Given the description of an element on the screen output the (x, y) to click on. 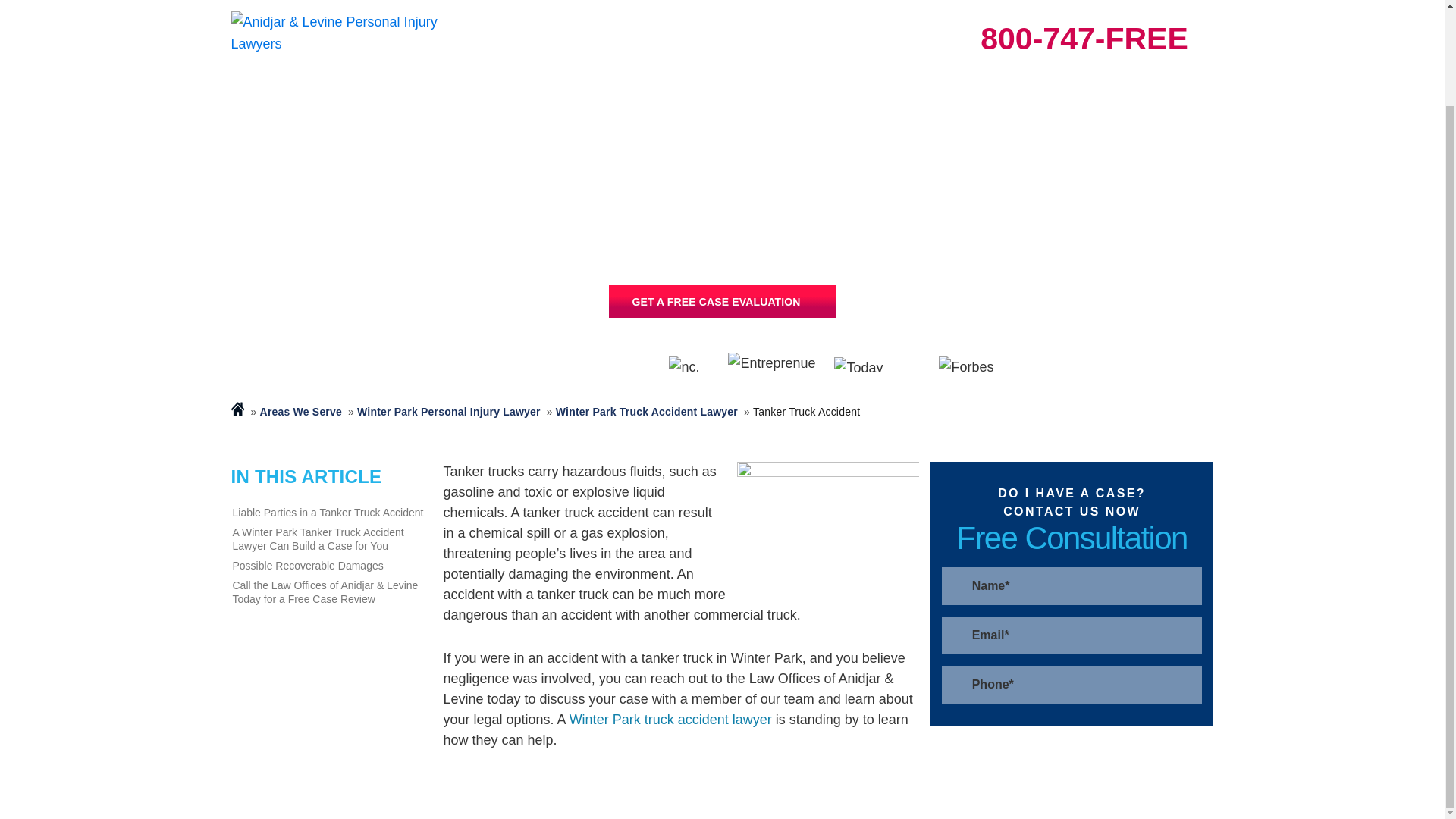
Possible Recoverable Damages (328, 565)
Areas We Serve (301, 411)
AREAS WE SERVE (606, 0)
Entreprenuer (773, 363)
GET A FREE CASE EVALUATION (721, 301)
Liable Parties in a Tanker Truck Accident (328, 512)
ABOUT (995, 0)
Forbes (971, 364)
CONTACT (1175, 0)
Inc. (690, 363)
SPEAK TO AN ATTORNEY NOW  (721, 301)
REVIEWS (817, 0)
Today (878, 363)
